Given the description of an element on the screen output the (x, y) to click on. 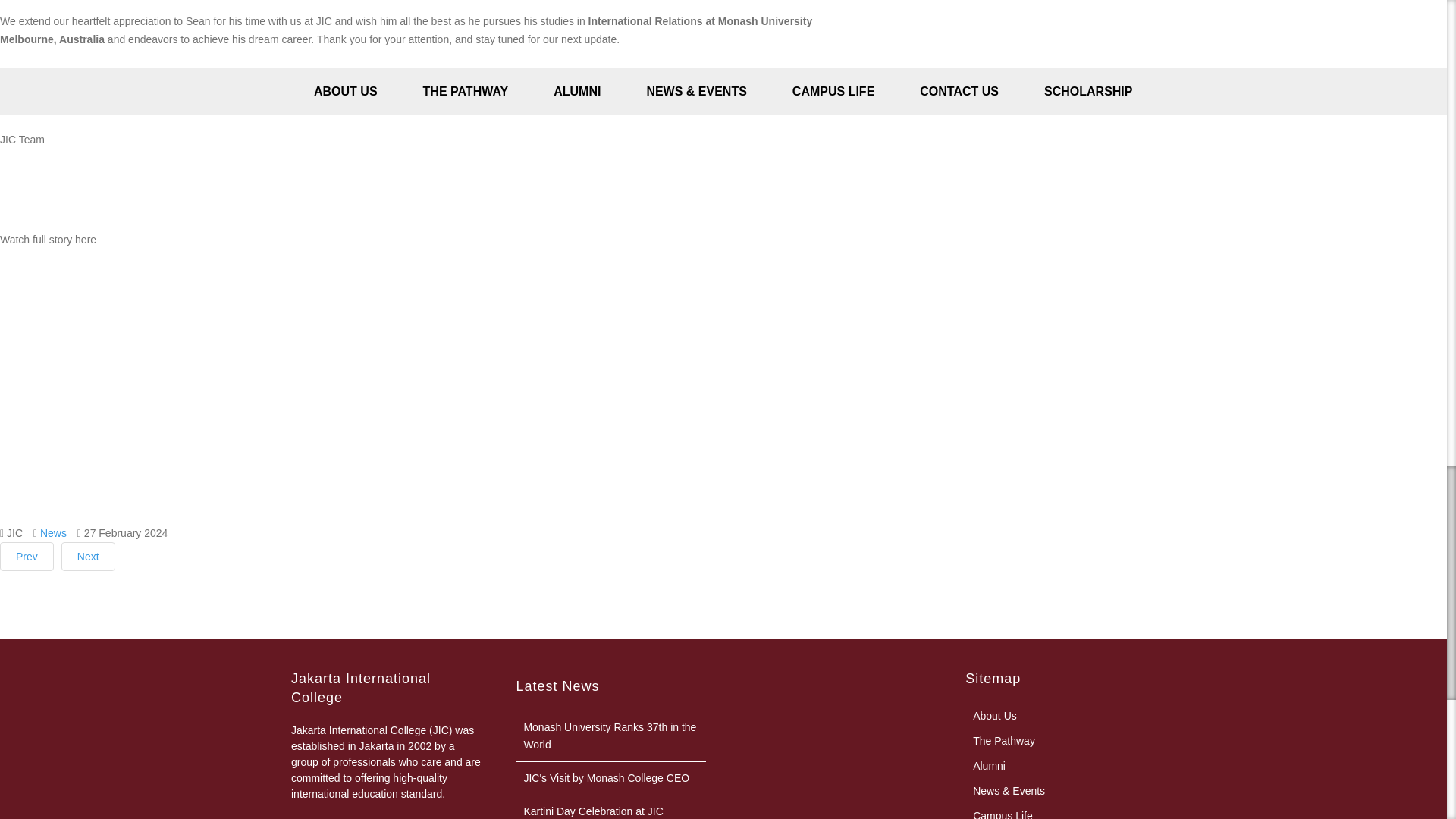
Category:  (49, 533)
Published:  (122, 533)
Written by  (11, 533)
Parent's Testimony by Mrs. Meilany Fahriantiny (26, 556)
YouTube video player (212, 383)
JIC Basketball team won third place at Constellate Cup (88, 556)
